Given the description of an element on the screen output the (x, y) to click on. 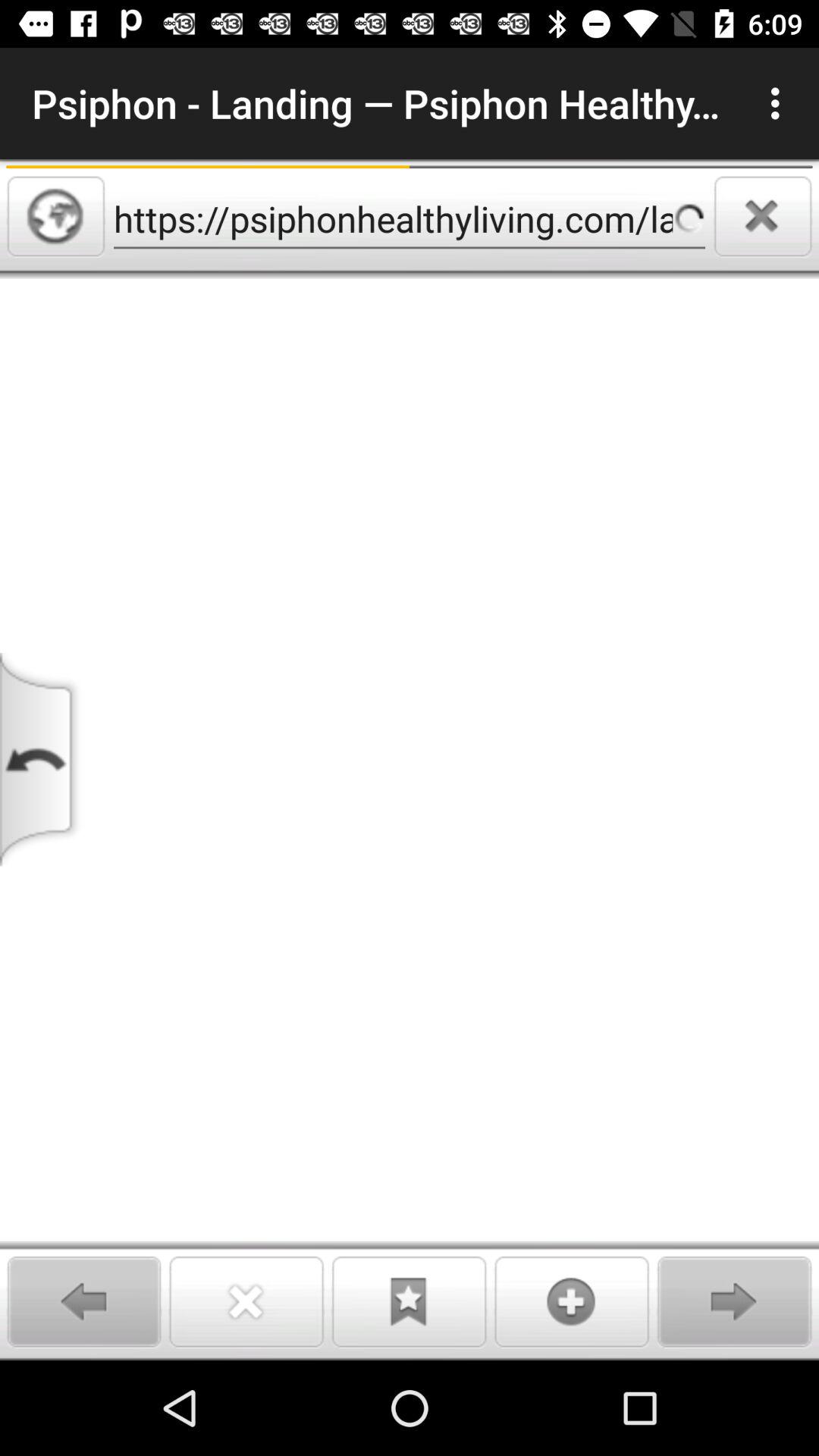
search browser (55, 216)
